Given the description of an element on the screen output the (x, y) to click on. 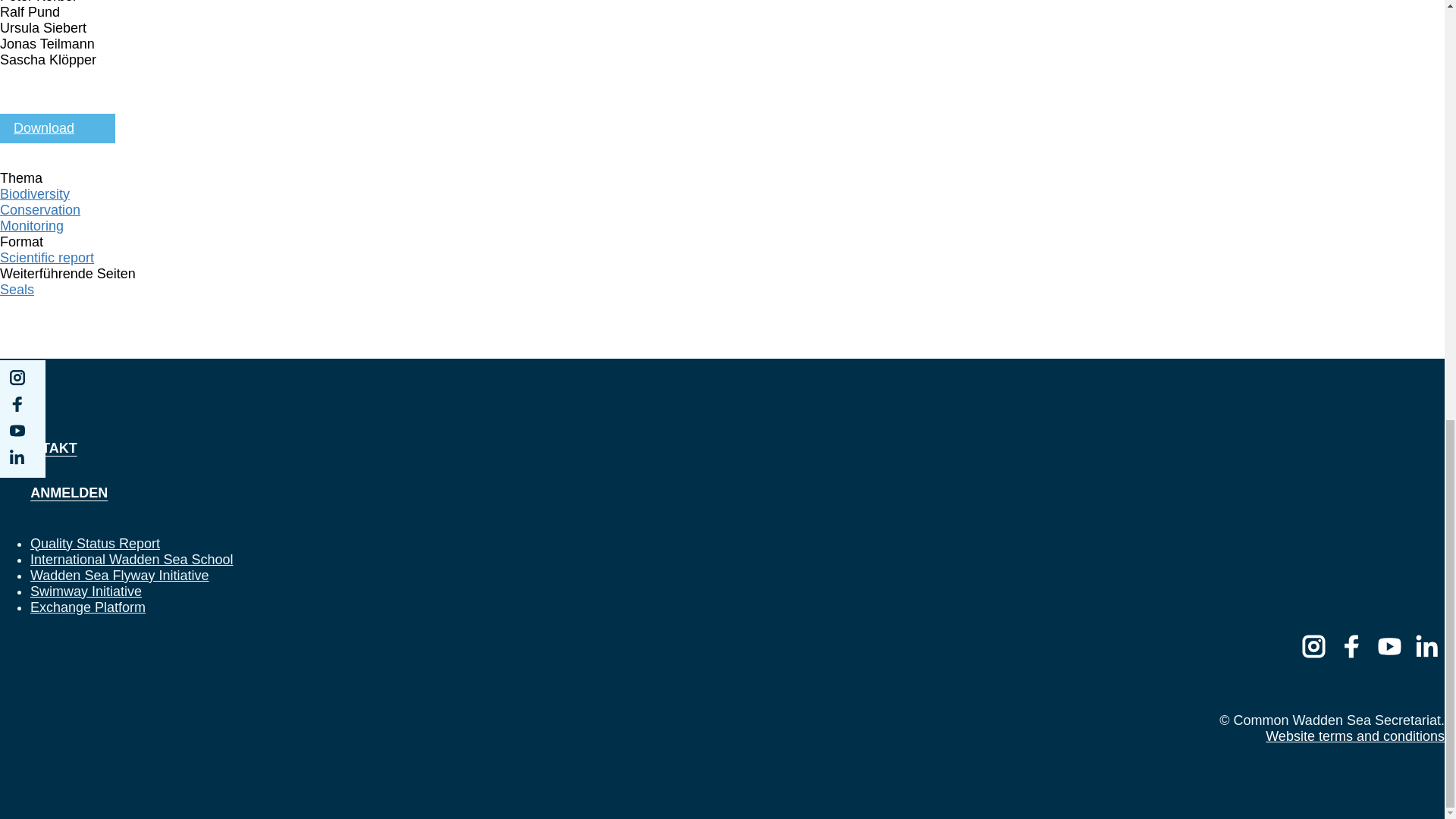
Link to the Swimway Initiative website (85, 590)
Link to the Wadden Sea Flyway Initiative website (119, 575)
Link to the online Wadden Sea Quality Status Report (95, 543)
Link to the International Wadden Sea School website (131, 559)
Download (57, 128)
Download (57, 128)
